Given the description of an element on the screen output the (x, y) to click on. 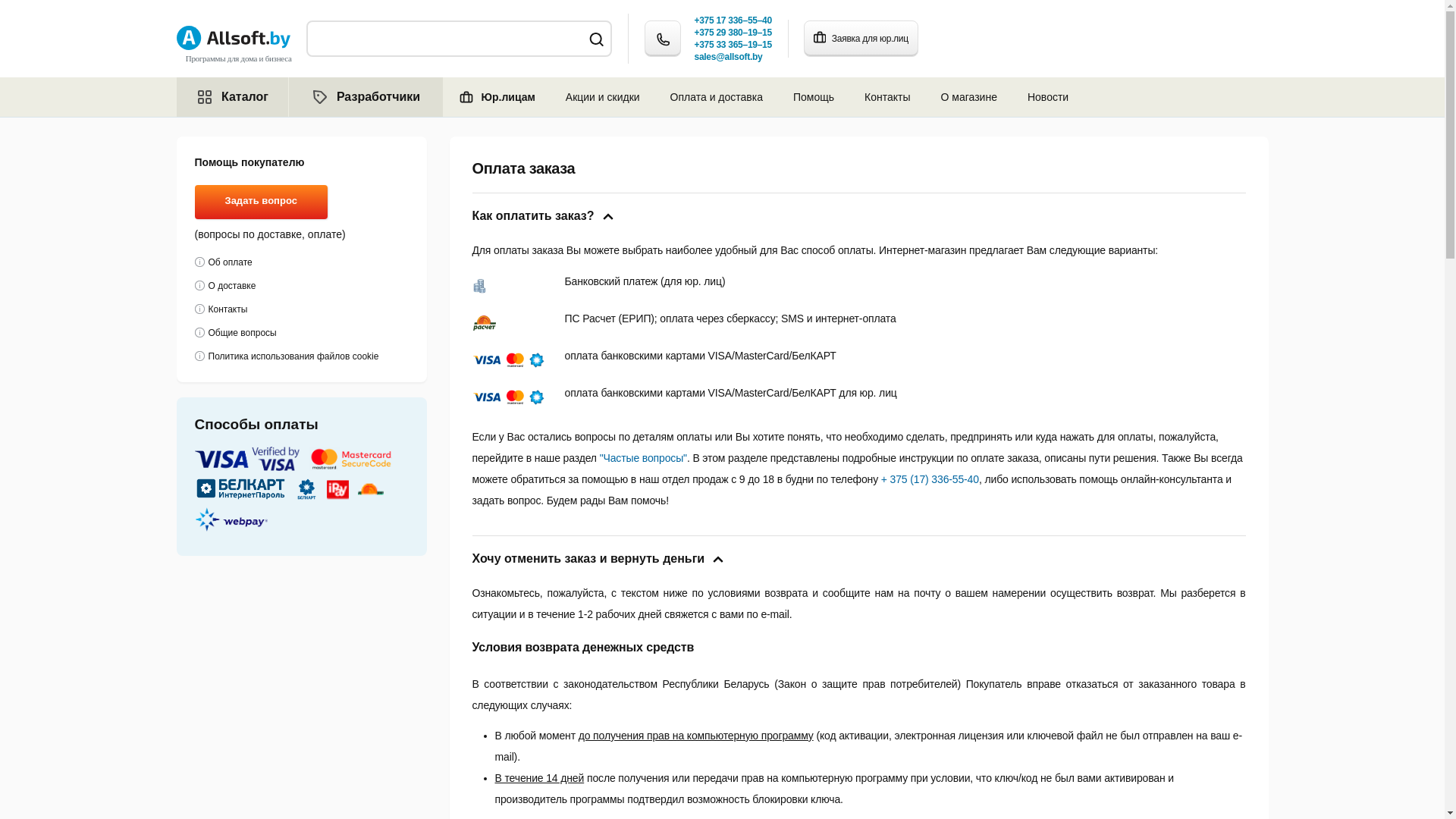
iPay Element type: hover (337, 488)
  Element type: text (231, 519)
WebPay Element type: hover (230, 519)
sales@allsoft.by Element type: text (728, 56)
Belcart Internet Parol Element type: hover (239, 488)
+ 375 (17) 336-55-40 Element type: text (930, 479)
Mastercard Element type: hover (350, 458)
Visa Element type: hover (246, 458)
  Element type: text (371, 488)
